Given the description of an element on the screen output the (x, y) to click on. 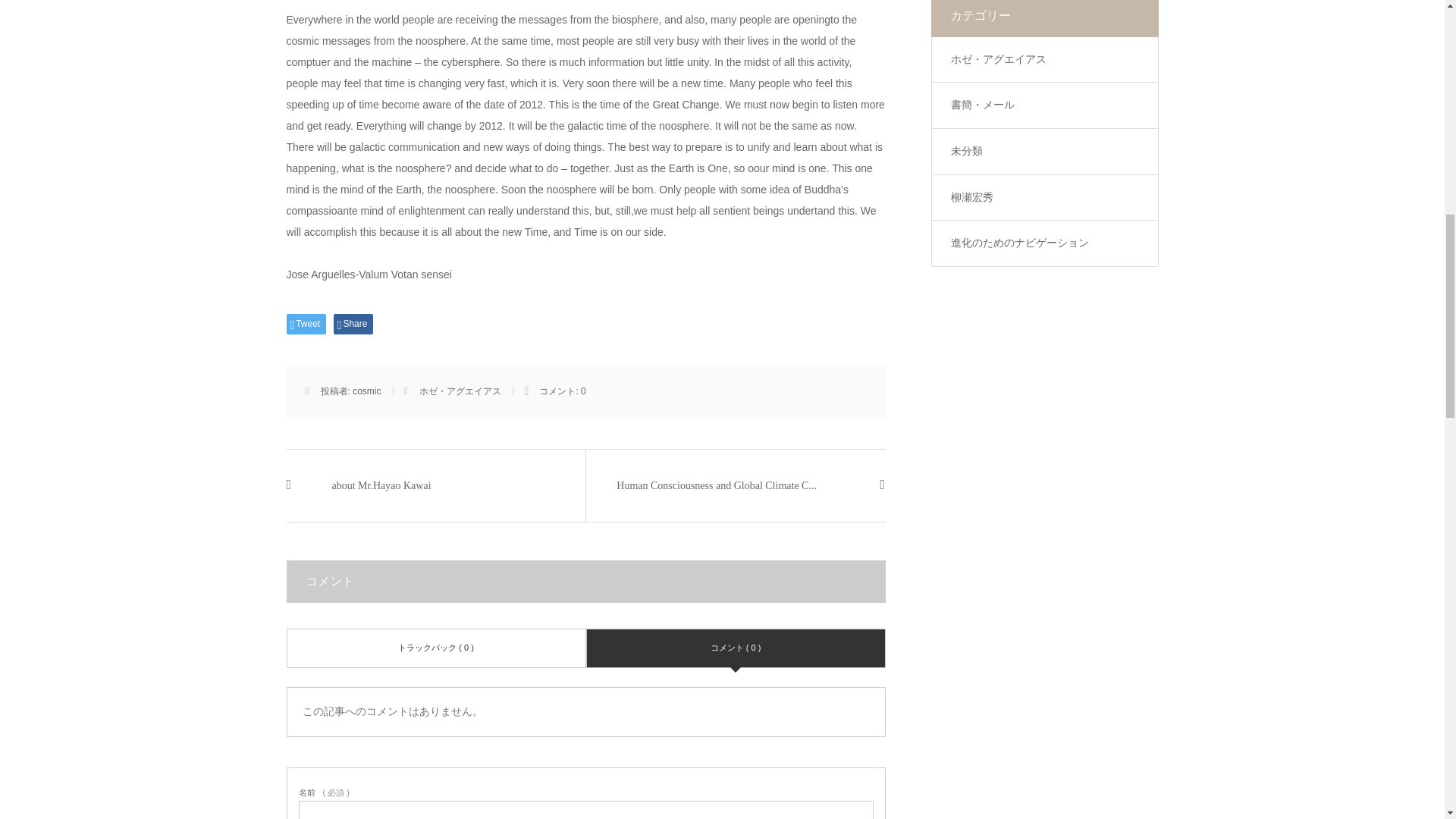
Share (353, 323)
about Mr.Hayao Kawai (436, 485)
cosmic (366, 390)
Human Consciousness and Global Climate C... (735, 485)
Tweet (306, 323)
